Given the description of an element on the screen output the (x, y) to click on. 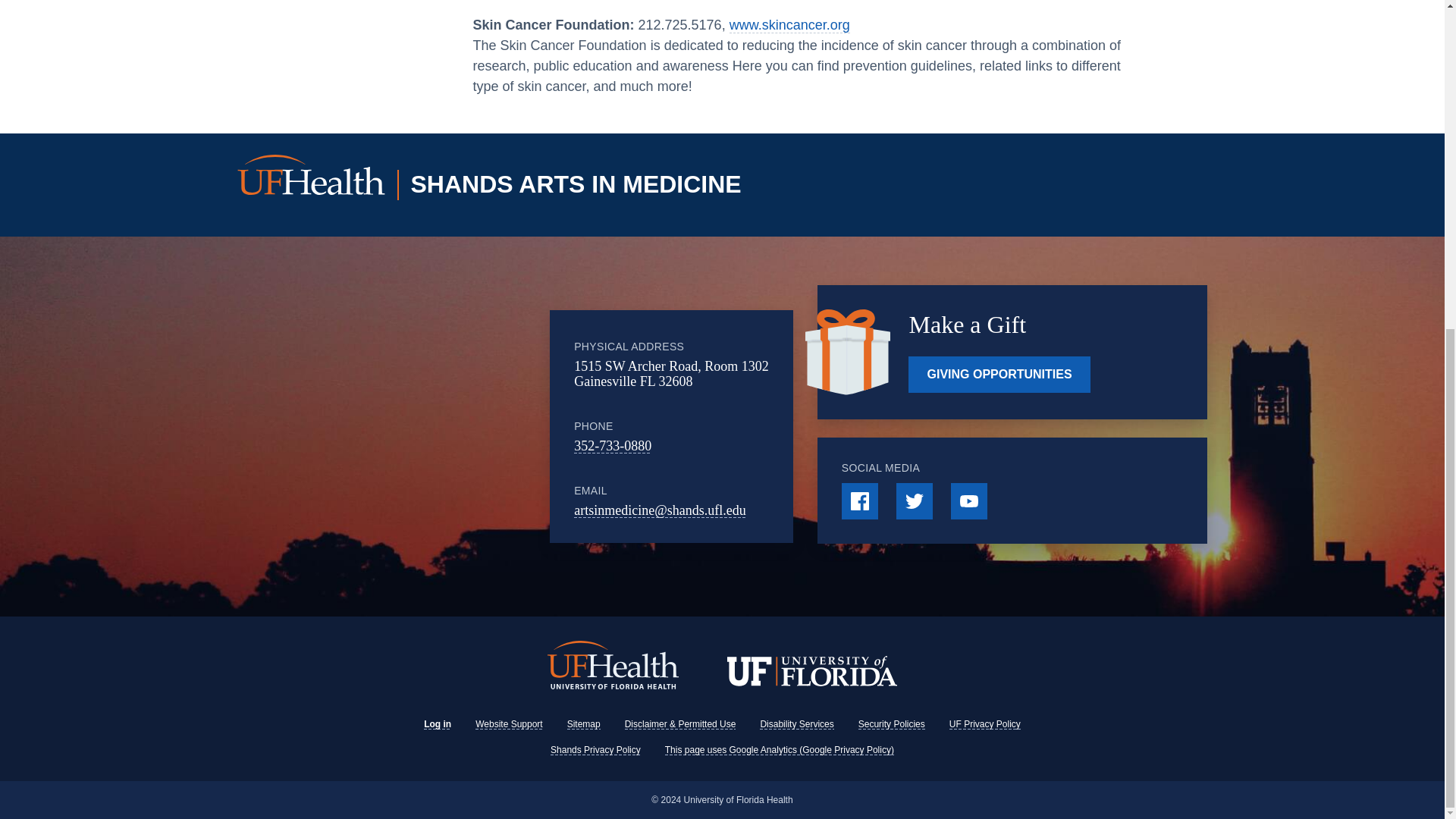
Shands Privacy Policy (595, 749)
Website Support (509, 724)
UF Privacy Policy (984, 724)
Log in (437, 724)
352-733-0880 (611, 445)
Google Maps Embed (440, 425)
Security Policies (891, 724)
Disability Services (796, 724)
Sitemap (583, 724)
